Given the description of an element on the screen output the (x, y) to click on. 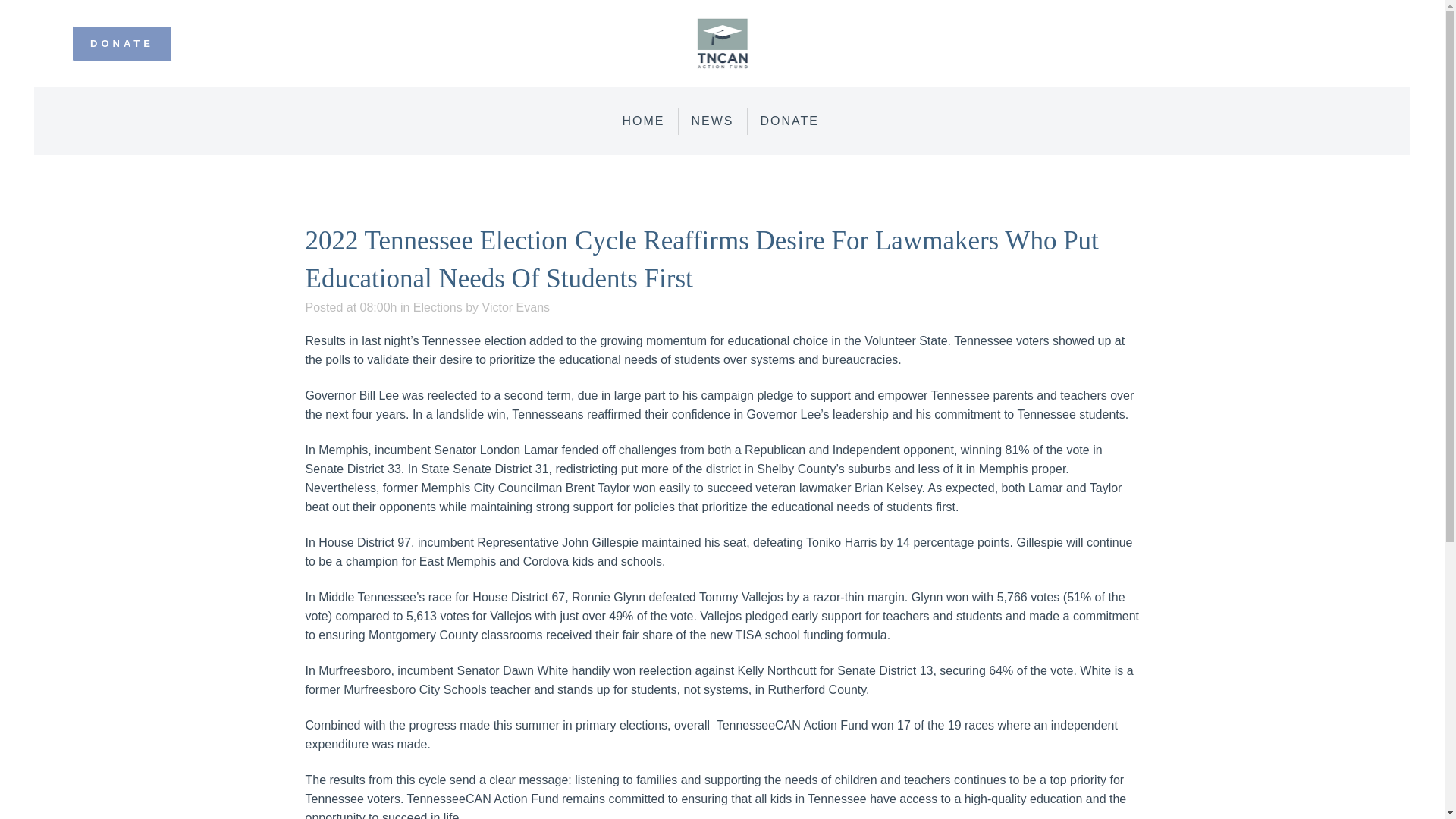
DONATE (121, 43)
Elections (438, 307)
DONATE (789, 121)
HOME (644, 121)
NEWS (713, 121)
Victor Evans (515, 307)
